Given the description of an element on the screen output the (x, y) to click on. 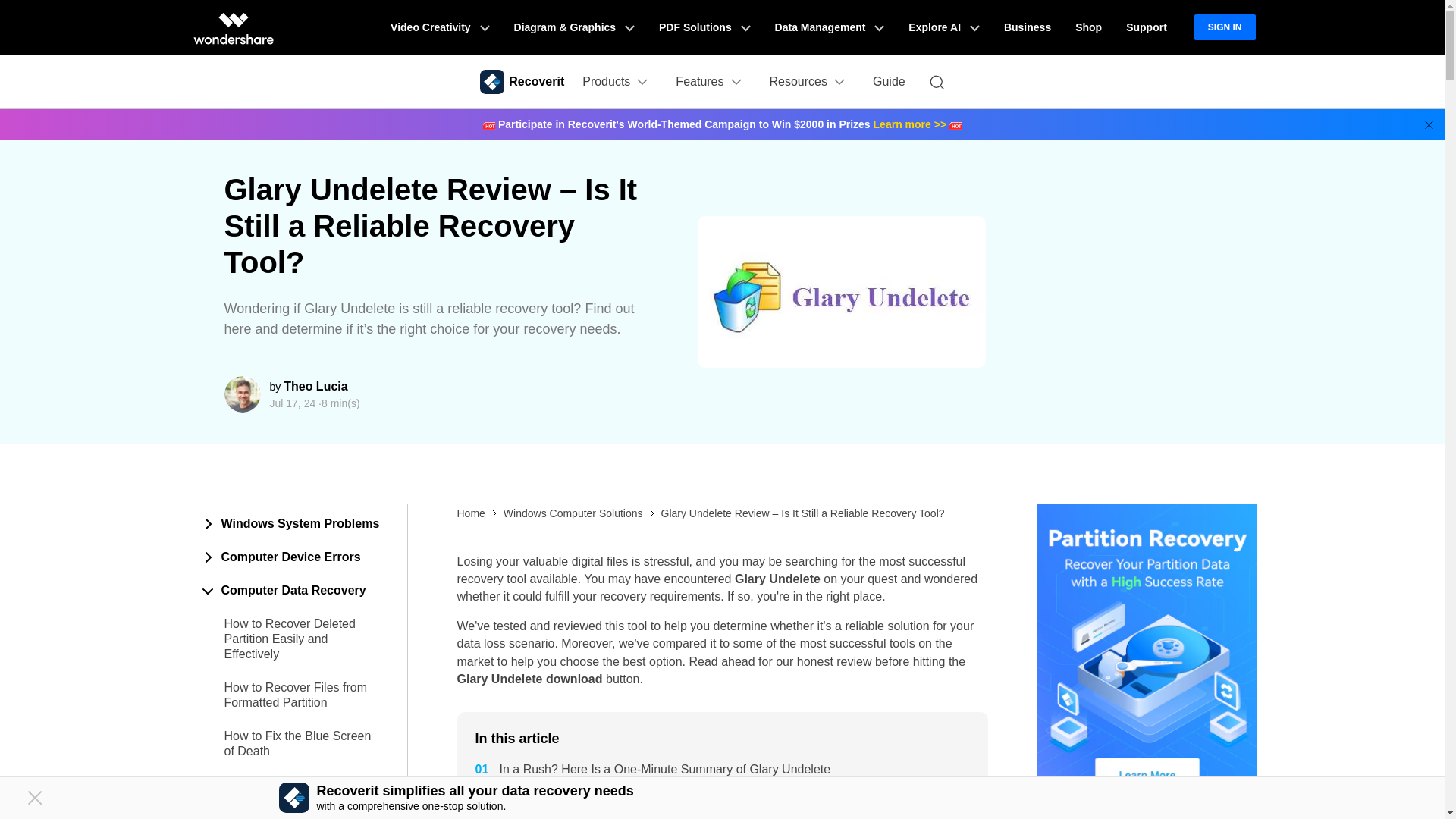
Explore AI (943, 27)
Data Management (829, 27)
Video Creativity (439, 27)
Business (1026, 27)
PDF Solutions (704, 27)
